Given the description of an element on the screen output the (x, y) to click on. 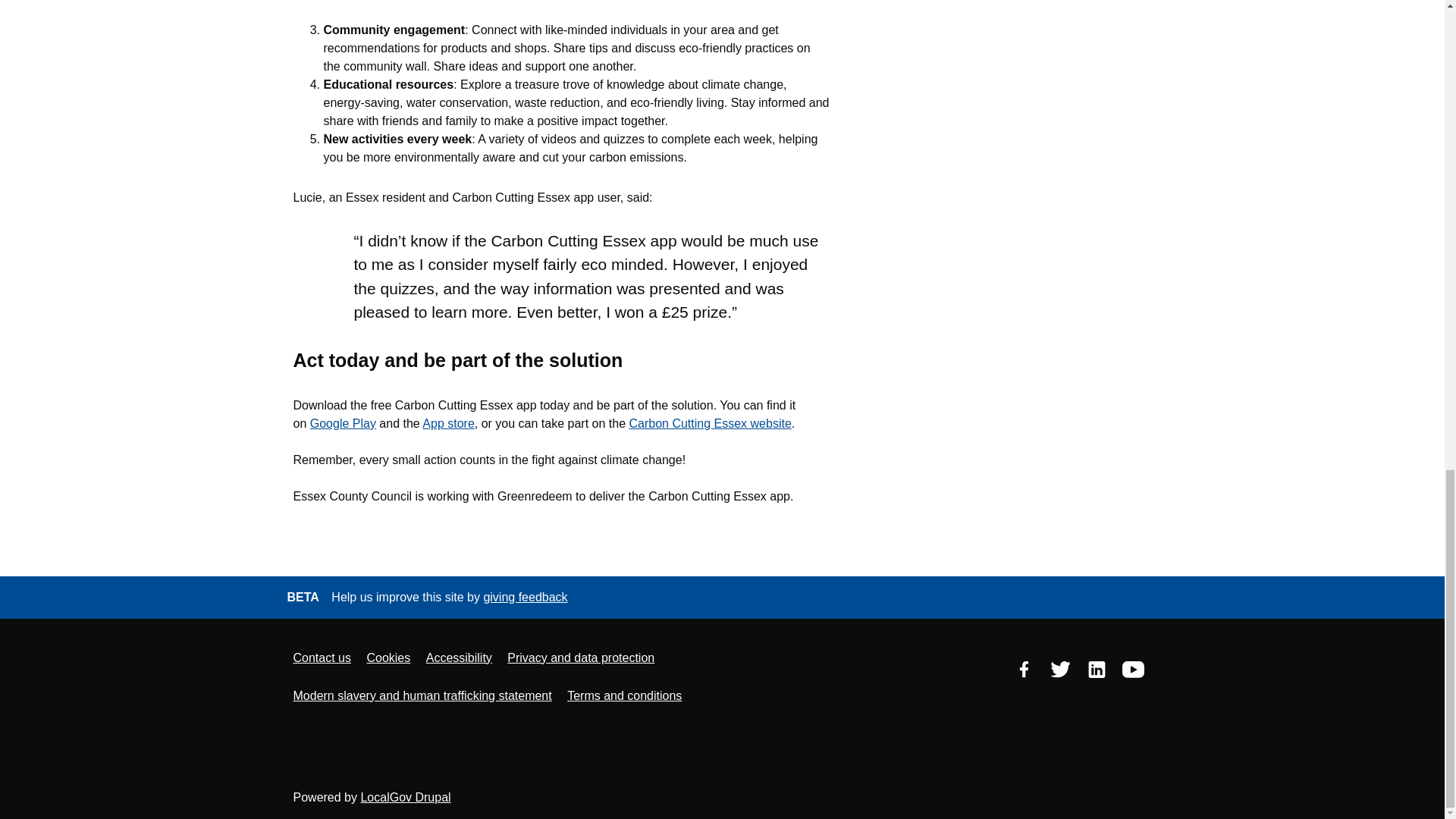
Modern slavery and human trafficking statement (421, 696)
Privacy and data protection (579, 658)
App store (448, 422)
Contact us (321, 658)
Terms and conditions (624, 696)
Accessibility (459, 658)
giving feedback (525, 596)
LocalGov Drupal (404, 797)
Cookies (388, 658)
Google Play (342, 422)
